Given the description of an element on the screen output the (x, y) to click on. 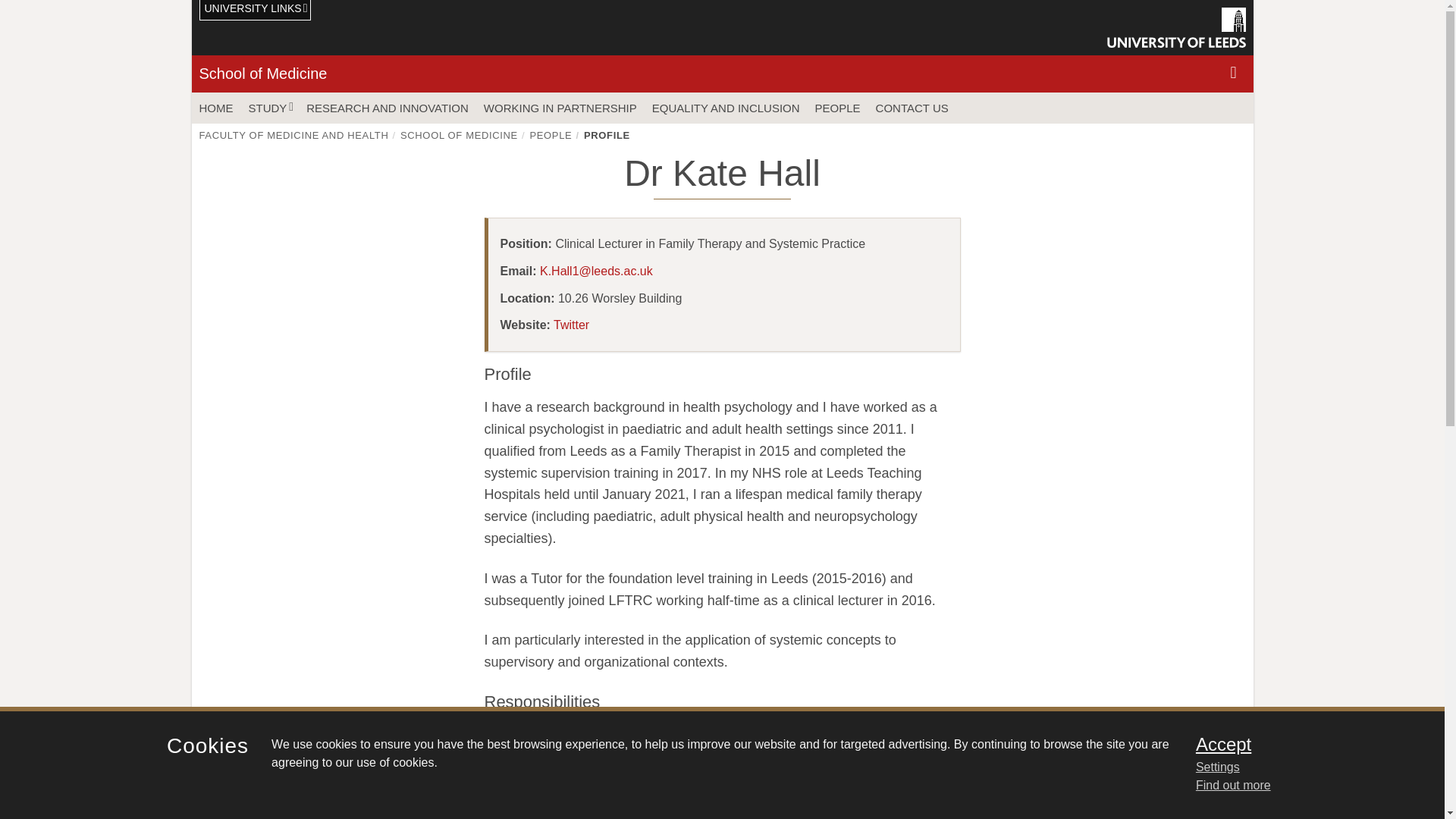
Accept (1300, 744)
Settings (1300, 767)
UNIVERSITY LINKS (254, 10)
University of Leeds homepage (1176, 27)
Find out more (1233, 784)
